Given the description of an element on the screen output the (x, y) to click on. 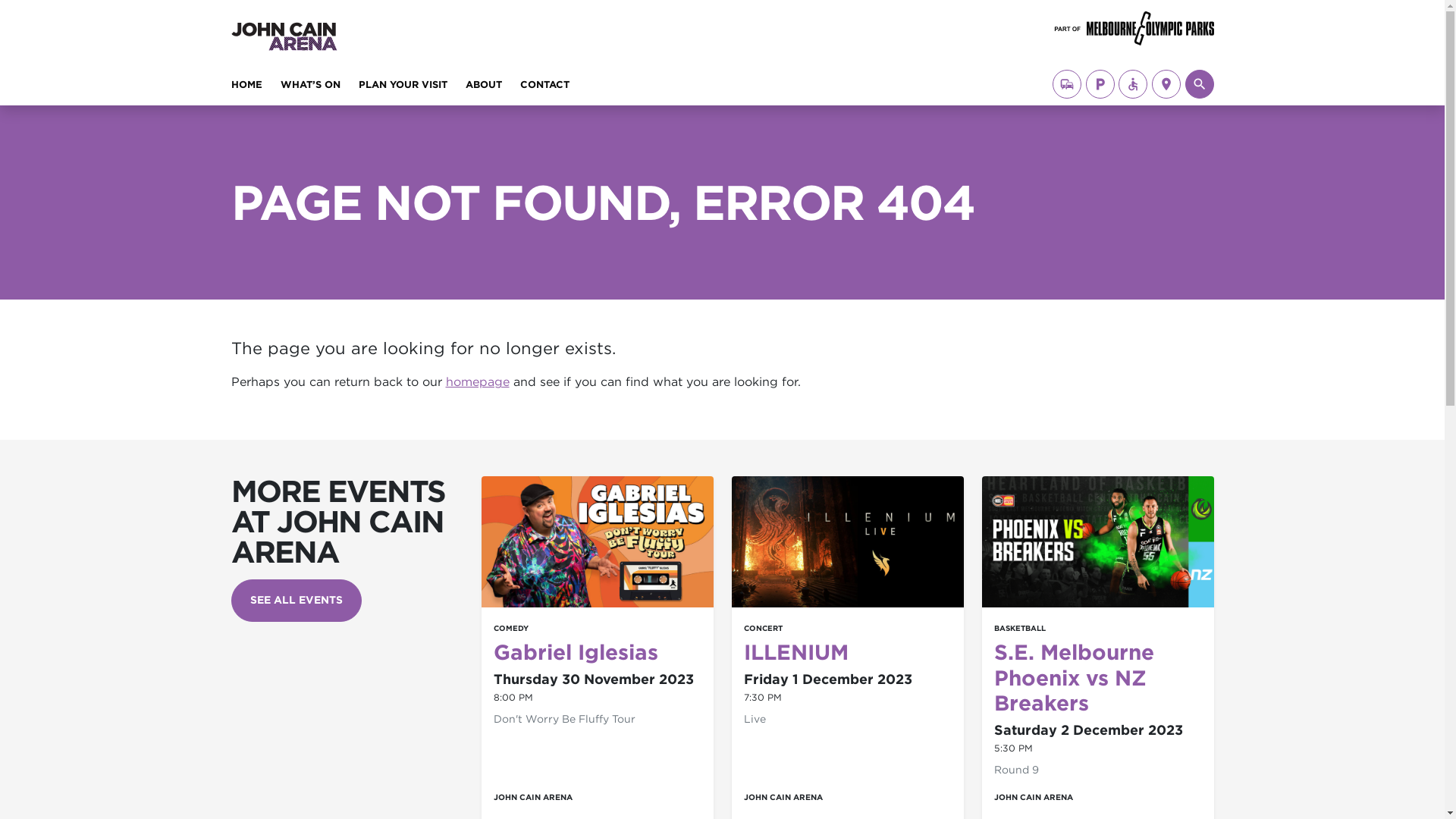
Gabriel Iglesias Element type: text (574, 652)
SEE ALL EVENTS Element type: text (295, 600)
ILLENIUM Element type: text (795, 652)
homepage Element type: text (477, 381)
S.E. Melbourne Phoenix vs NZ Breakers Element type: text (1073, 677)
local_parking
Parking Element type: text (1099, 83)
commute
Getting Here Element type: text (1066, 83)
location_on
Maps Element type: text (1165, 83)
ABOUT Element type: text (483, 87)
CONTACT Element type: text (544, 87)
HOME Element type: text (245, 87)
Skip to primary navigation Element type: text (23, 21)
PLAN YOUR VISIT Element type: text (401, 87)
John Cain Arena Element type: text (336, 21)
accessible
Accessibility Element type: text (1132, 83)
search Element type: text (1198, 83)
